Given the description of an element on the screen output the (x, y) to click on. 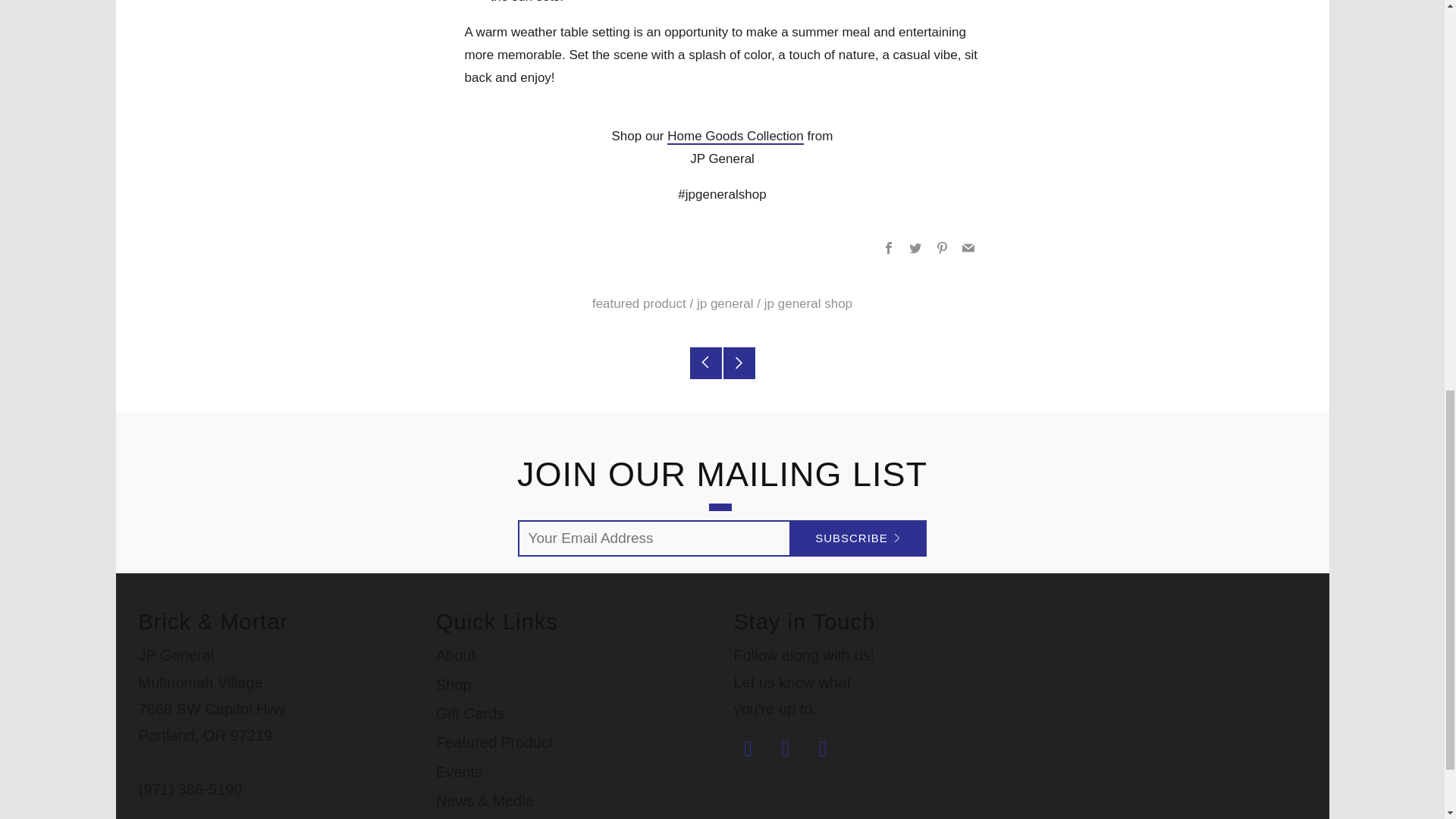
Home Goods Collection (734, 136)
Show articles tagged jp general (725, 303)
Show articles tagged jp general shop (807, 303)
Show articles tagged featured product (638, 303)
